Given the description of an element on the screen output the (x, y) to click on. 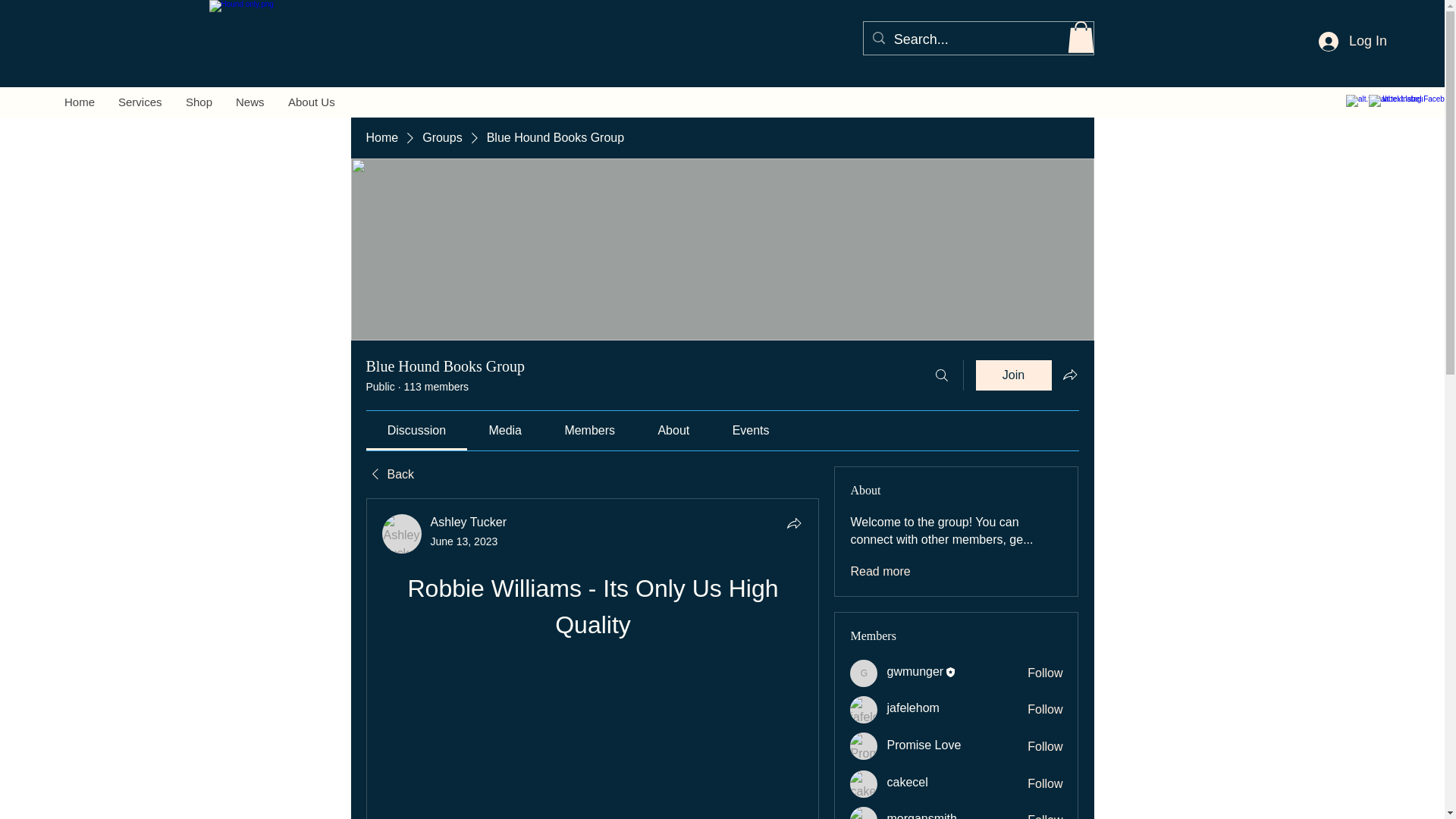
Home (381, 137)
Join (1013, 375)
June 13, 2023 (463, 541)
Promise Love (863, 746)
About Us (311, 101)
cakecel (906, 781)
Read more (880, 571)
Follow (1044, 673)
Follow (1044, 746)
gwmunger (863, 673)
Ashley Tucker (401, 533)
Services (139, 101)
Home (79, 101)
News (250, 101)
jafelehom (912, 707)
